Given the description of an element on the screen output the (x, y) to click on. 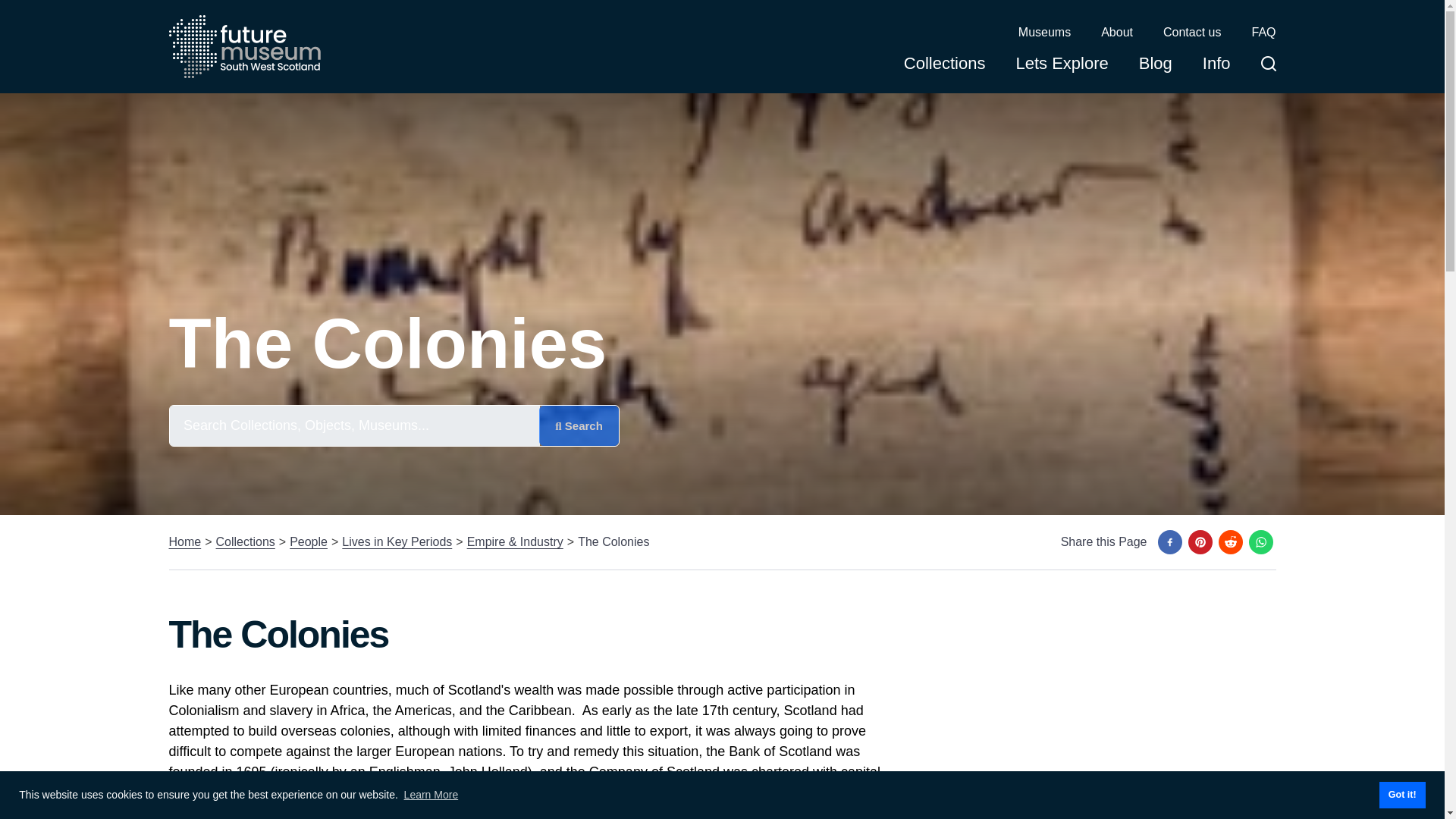
Lets Explore (1061, 68)
Home (184, 541)
FAQ (1262, 32)
About (1116, 32)
Collections (245, 541)
Lives in Key Periods (396, 541)
Search (578, 425)
Contact us (1192, 32)
People (308, 541)
Collections (944, 68)
Got it! (1401, 795)
Learn More (431, 794)
Museums (1043, 32)
